Given the description of an element on the screen output the (x, y) to click on. 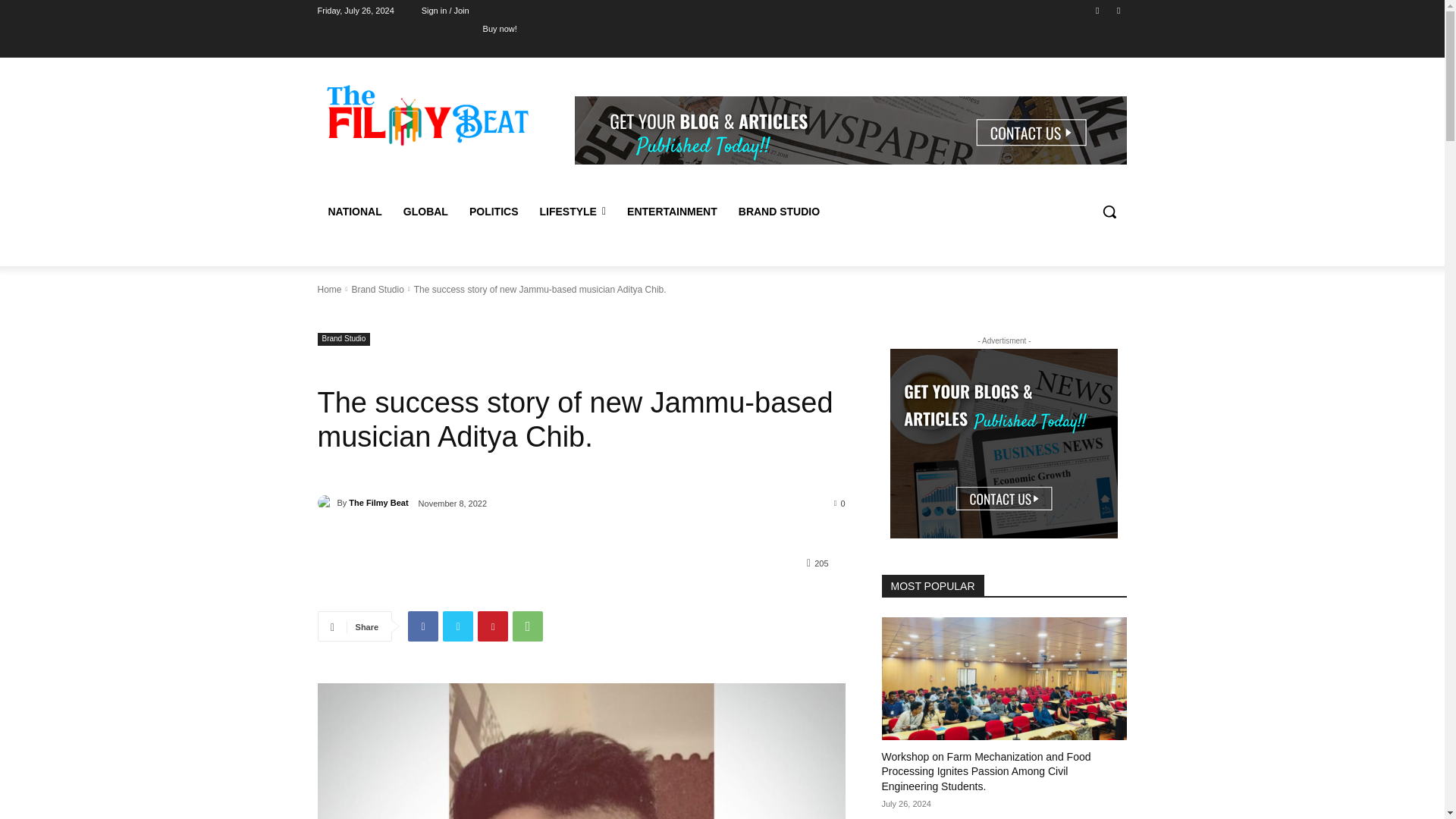
Buy now! (499, 28)
POLITICS (493, 211)
LIFESTYLE (571, 211)
NATIONAL (354, 211)
Facebook (1097, 9)
GLOBAL (425, 211)
Instagram (1117, 9)
